Given the description of an element on the screen output the (x, y) to click on. 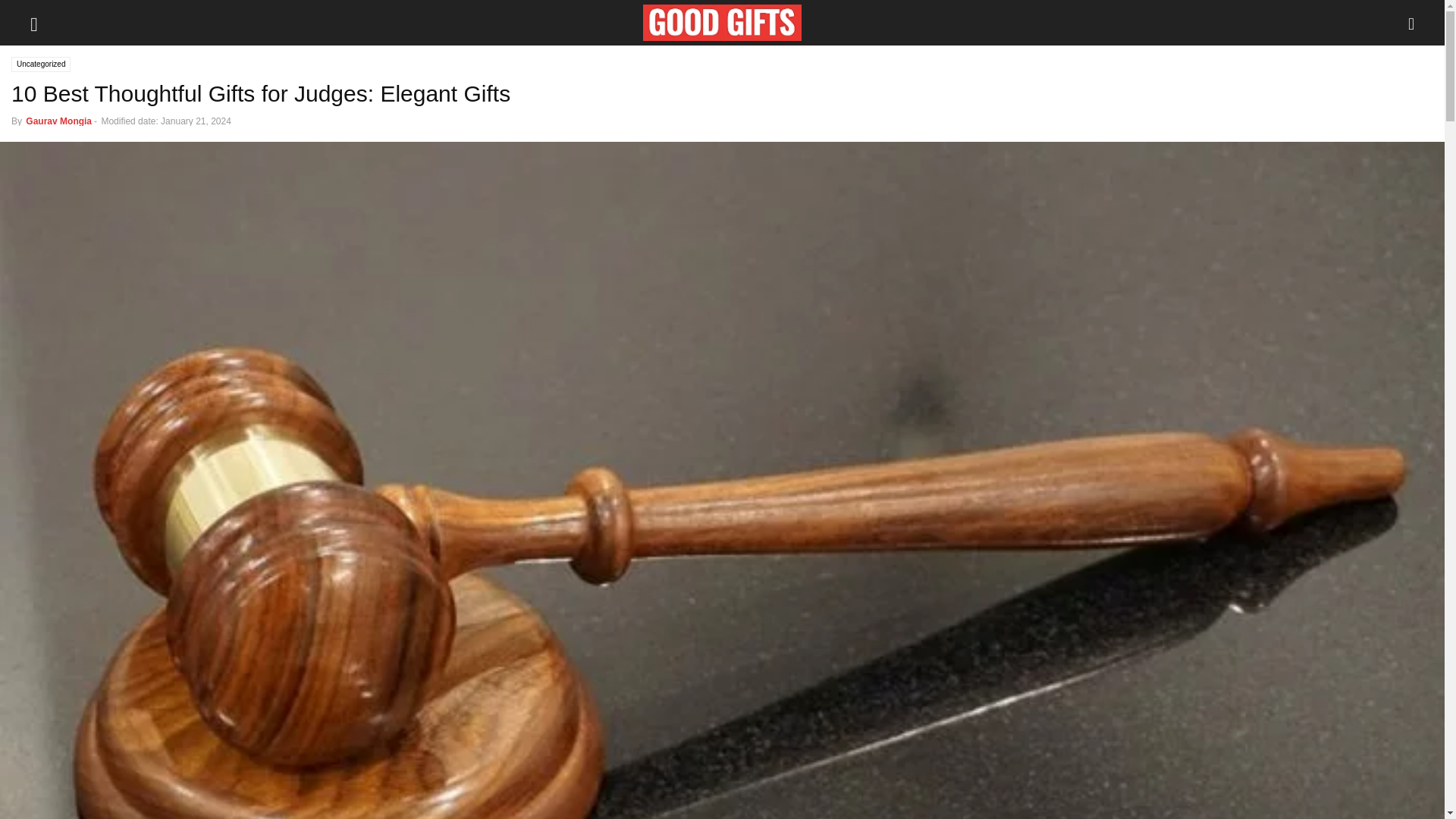
Uncategorized (40, 64)
Gaurav Mongia (58, 121)
Search (26, 11)
